Given the description of an element on the screen output the (x, y) to click on. 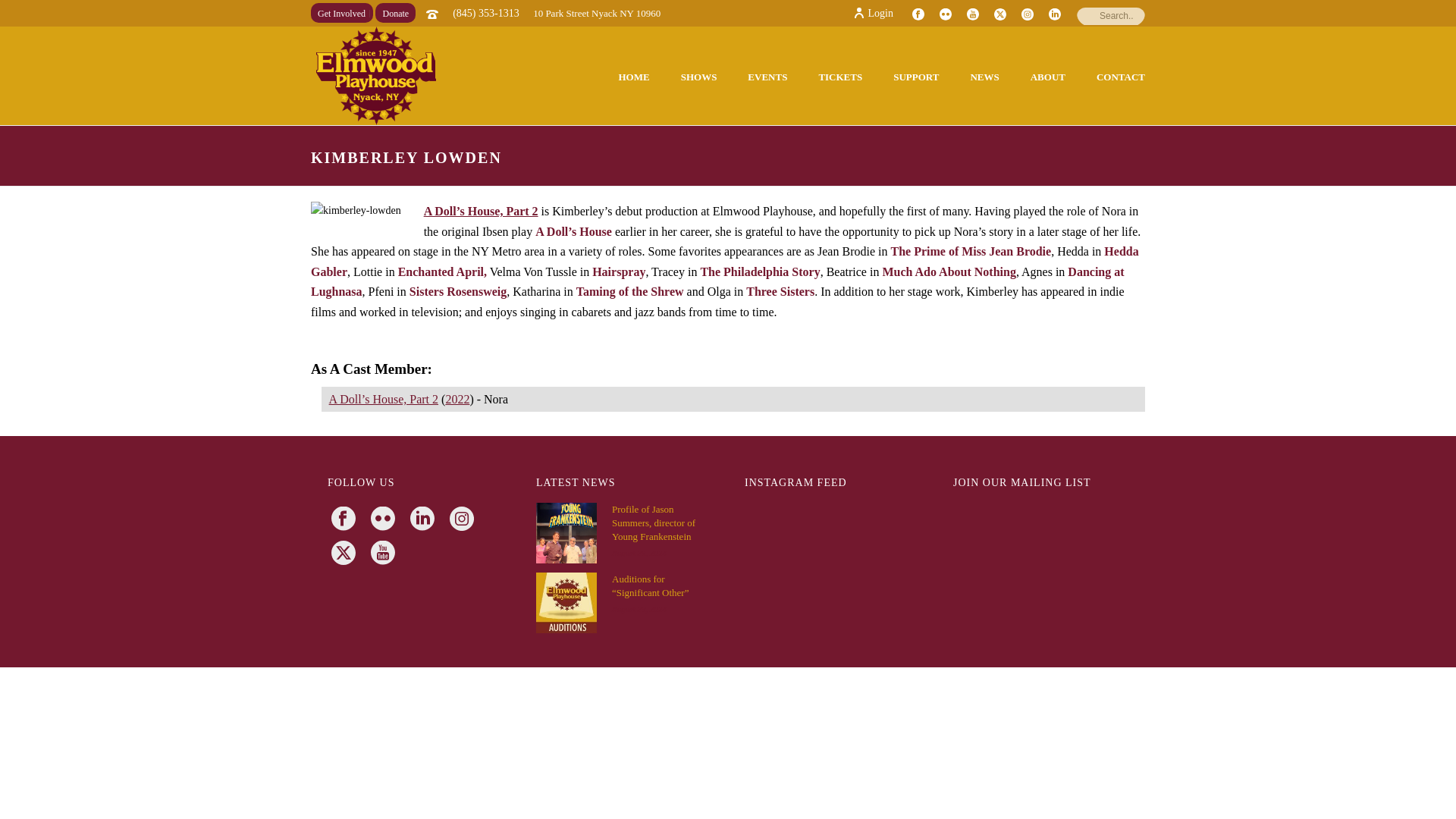
Follow Us twitter (346, 553)
Donate (395, 13)
Follow Us linkedin (426, 519)
Follow Us instagram (465, 519)
Follow Us youtube (387, 553)
Get Involved (341, 13)
Profile of Jason Summers, director of Young Frankenstein (565, 532)
Live Theatre in Rockland County (376, 75)
Login (873, 12)
Follow Us facebook (346, 519)
